Given the description of an element on the screen output the (x, y) to click on. 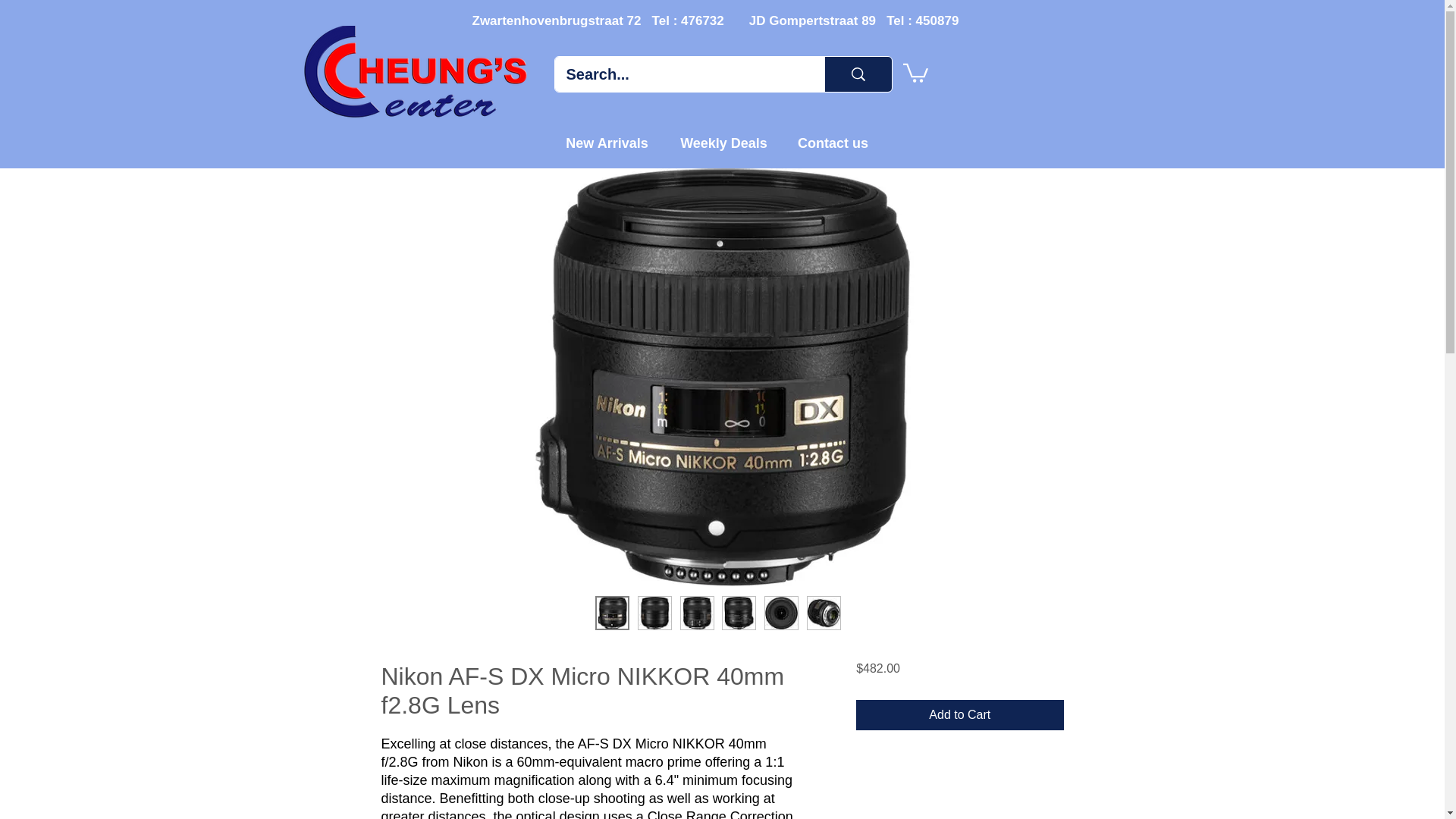
Weekly Deals (724, 143)
New Arrivals (606, 143)
Add to Cart (959, 715)
Cheungscenter (417, 74)
Contact us (833, 143)
